Given the description of an element on the screen output the (x, y) to click on. 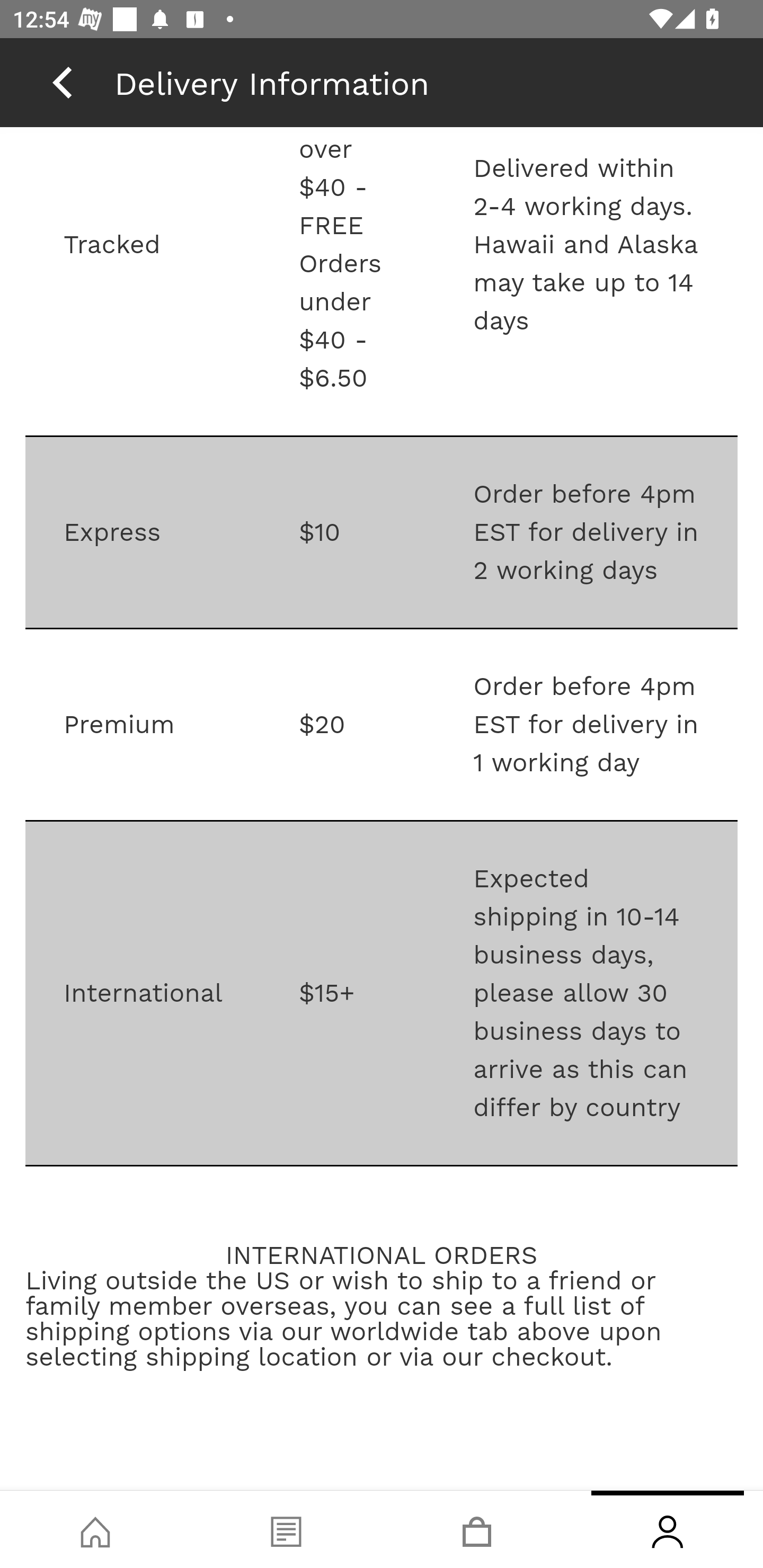
back (61, 82)
Shop, tab, 1 of 4 (95, 1529)
Blog, tab, 2 of 4 (285, 1529)
Basket, tab, 3 of 4 (476, 1529)
Account, tab, 4 of 4 (667, 1529)
